Given the description of an element on the screen output the (x, y) to click on. 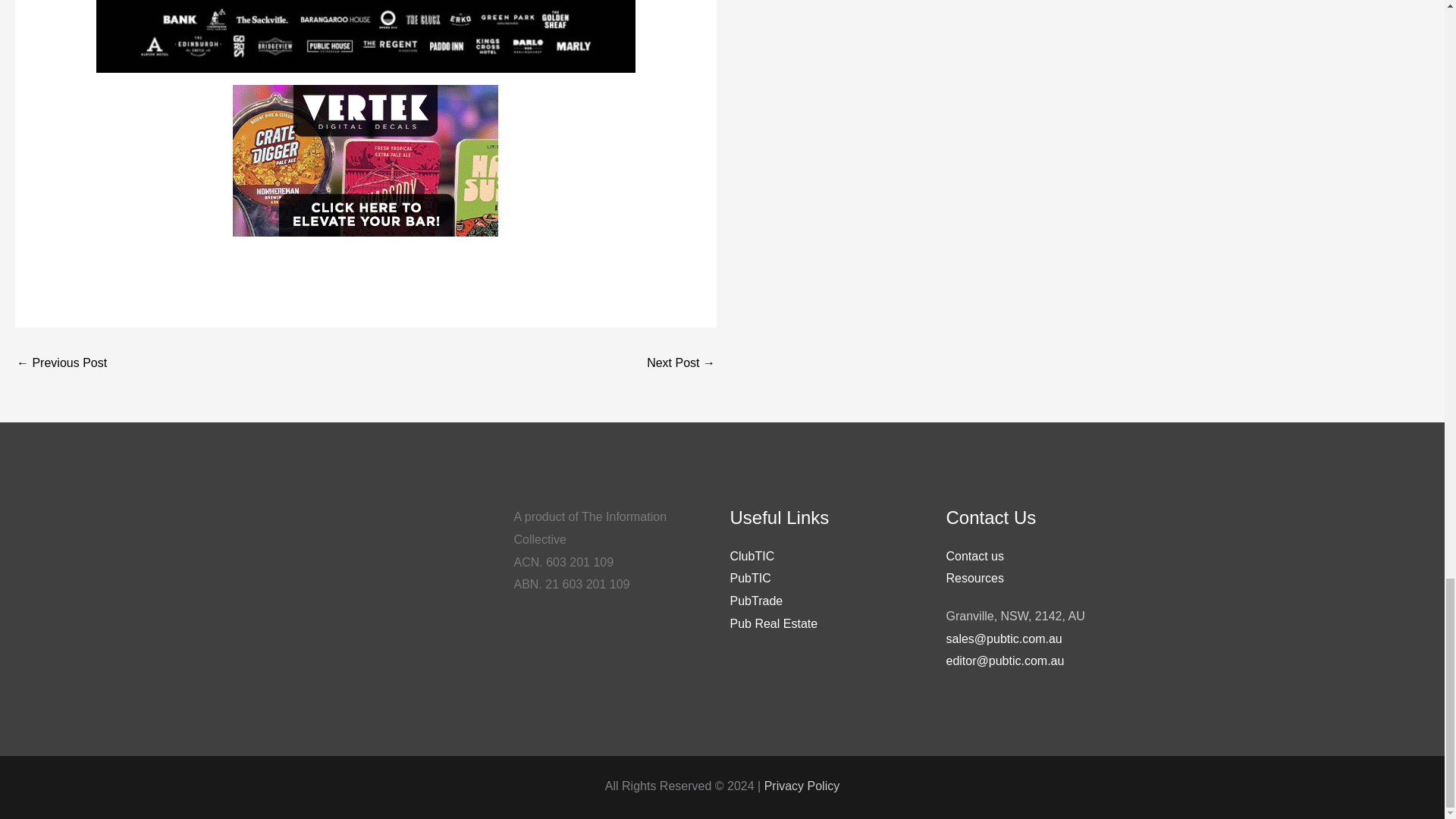
UK CLOSES AGAIN: ONE THIRD OF PUBS MAY NOT REOPEN (61, 363)
BULL AND BARLEY ON THE TABLE (680, 363)
